Given the description of an element on the screen output the (x, y) to click on. 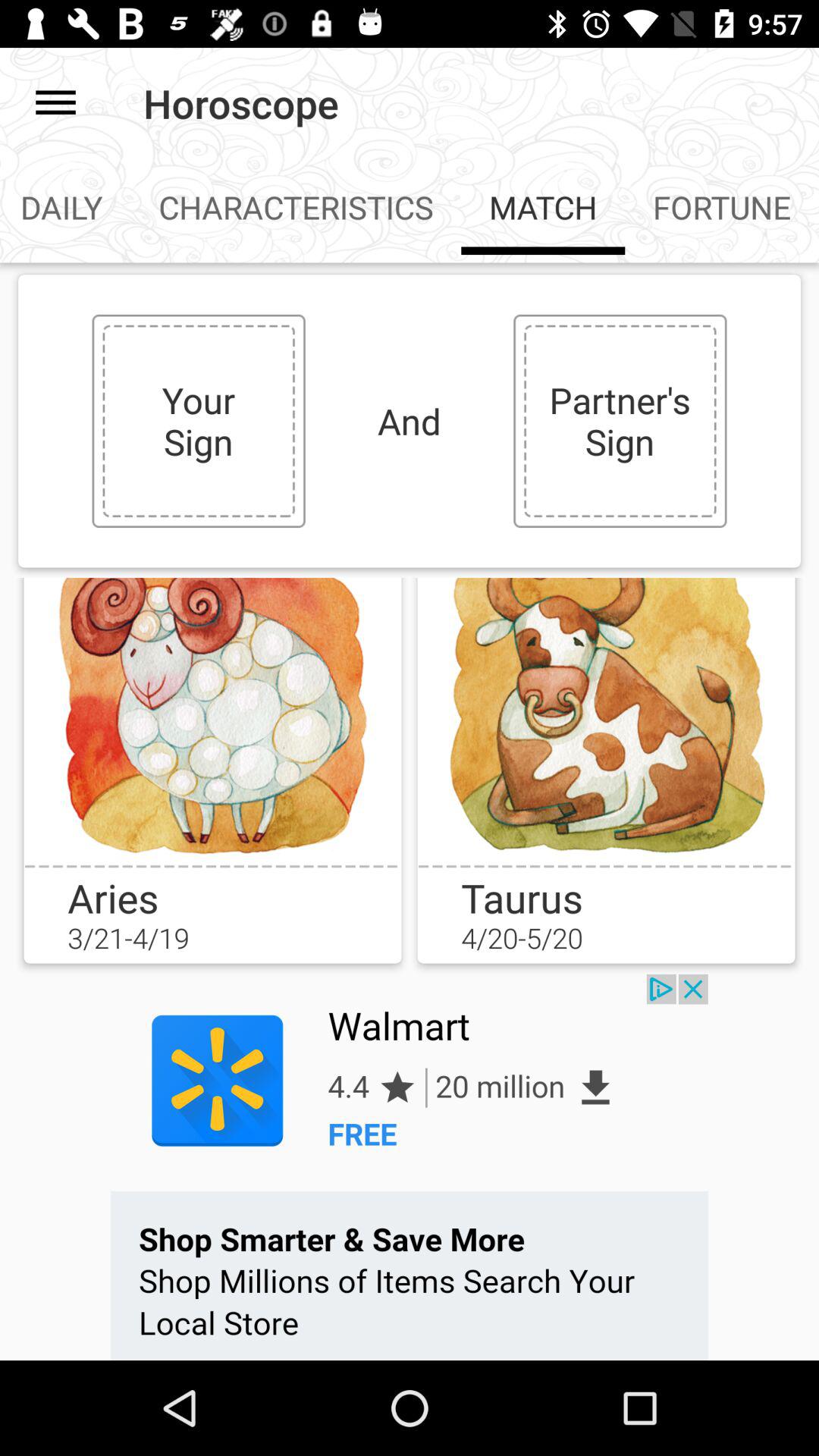
emoji (606, 720)
